Given the description of an element on the screen output the (x, y) to click on. 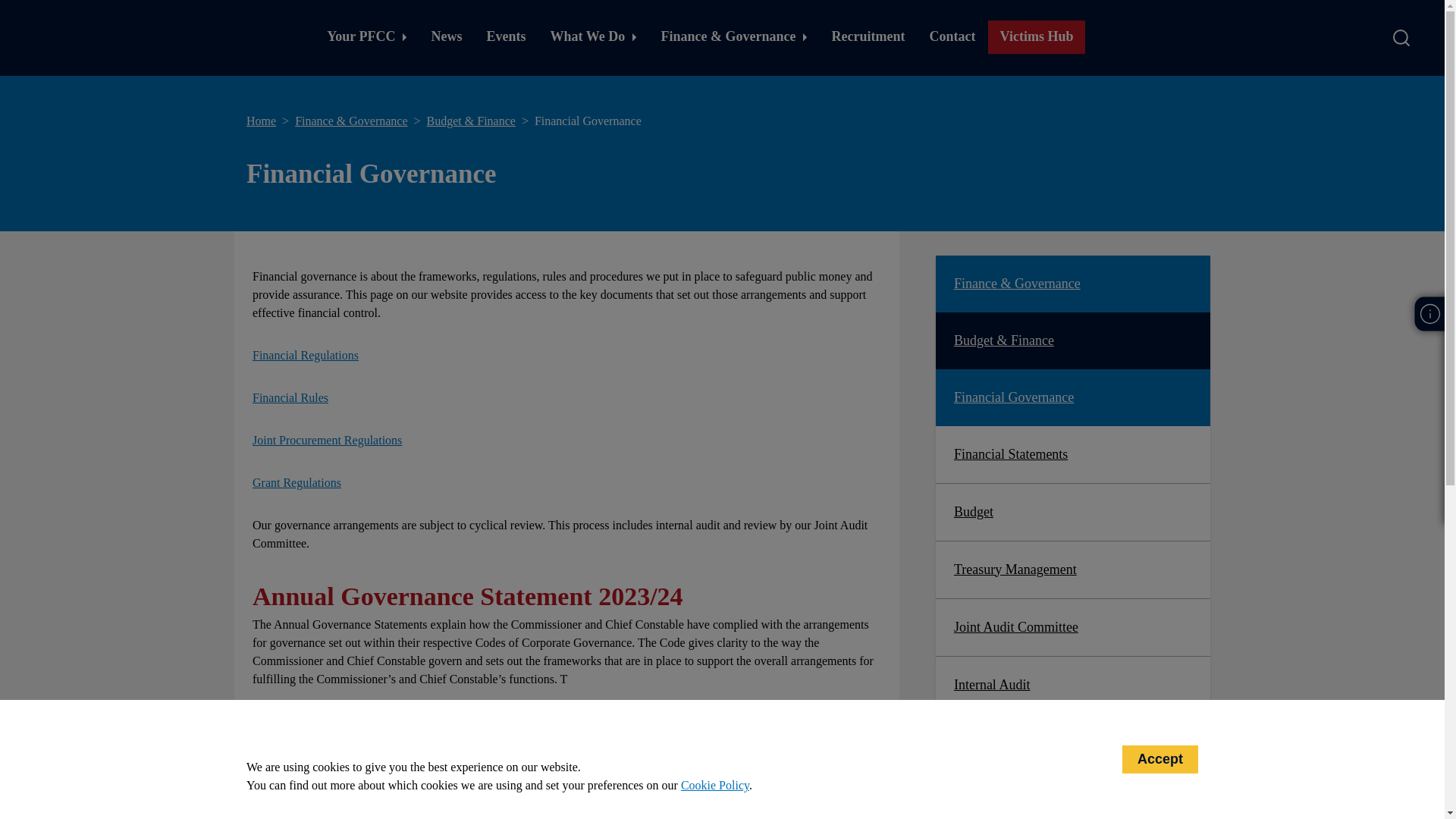
News (446, 37)
Victims Hub (1037, 37)
Events (506, 37)
Recruitment (868, 37)
Contact (952, 37)
